Given the description of an element on the screen output the (x, y) to click on. 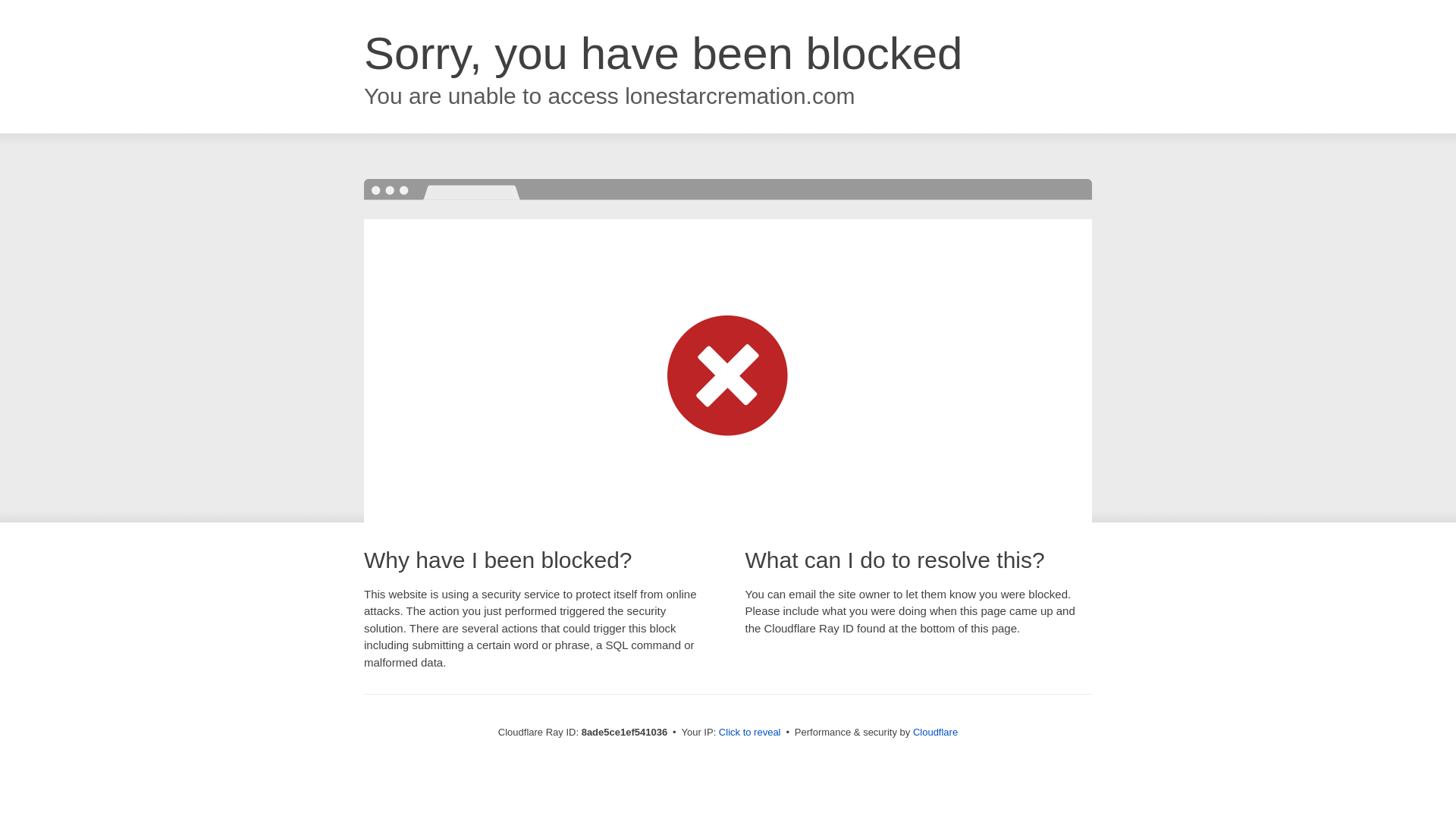
Click to reveal (749, 732)
Cloudflare (935, 731)
